Given the description of an element on the screen output the (x, y) to click on. 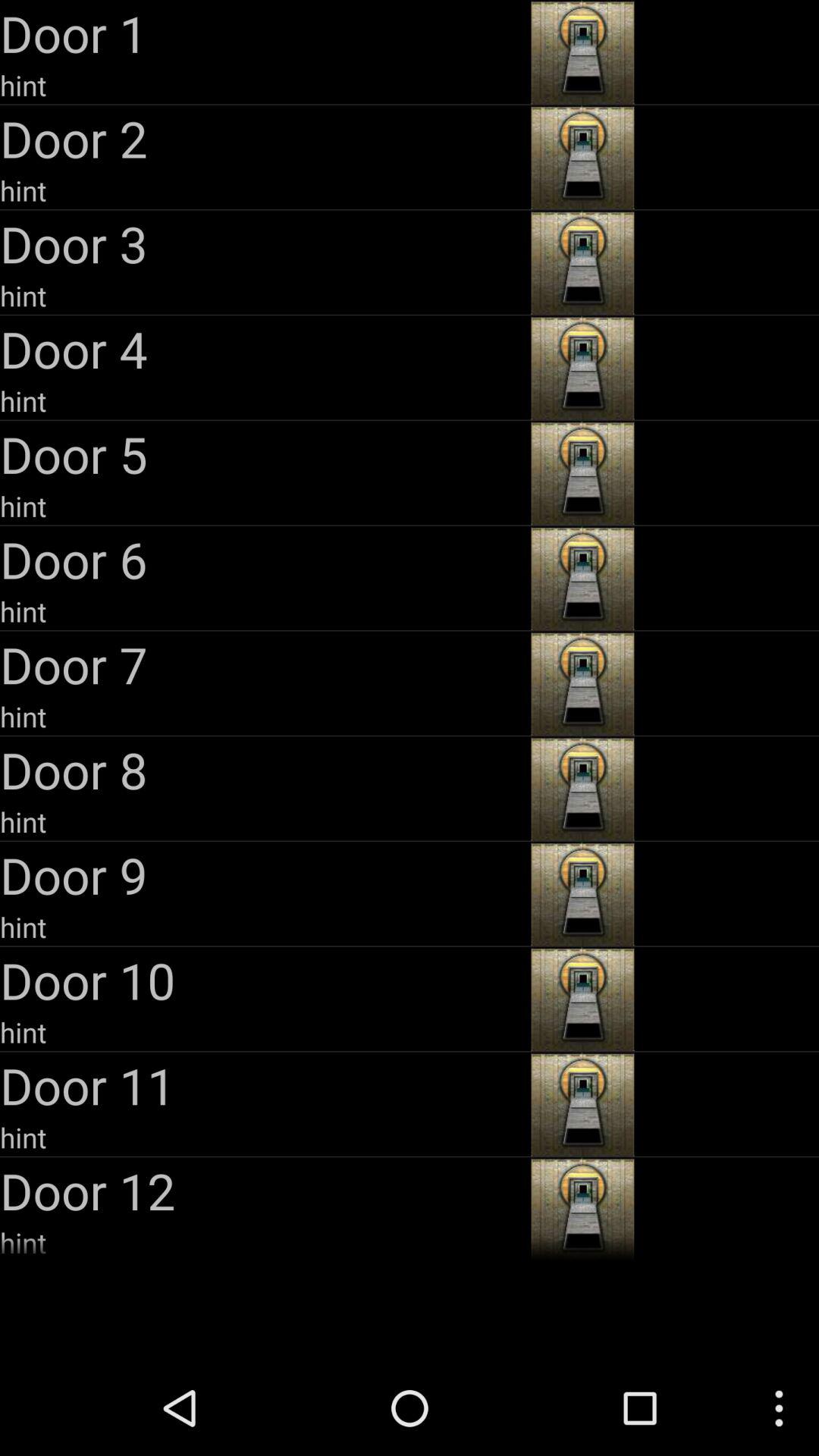
tap the door 7 item (263, 664)
